Given the description of an element on the screen output the (x, y) to click on. 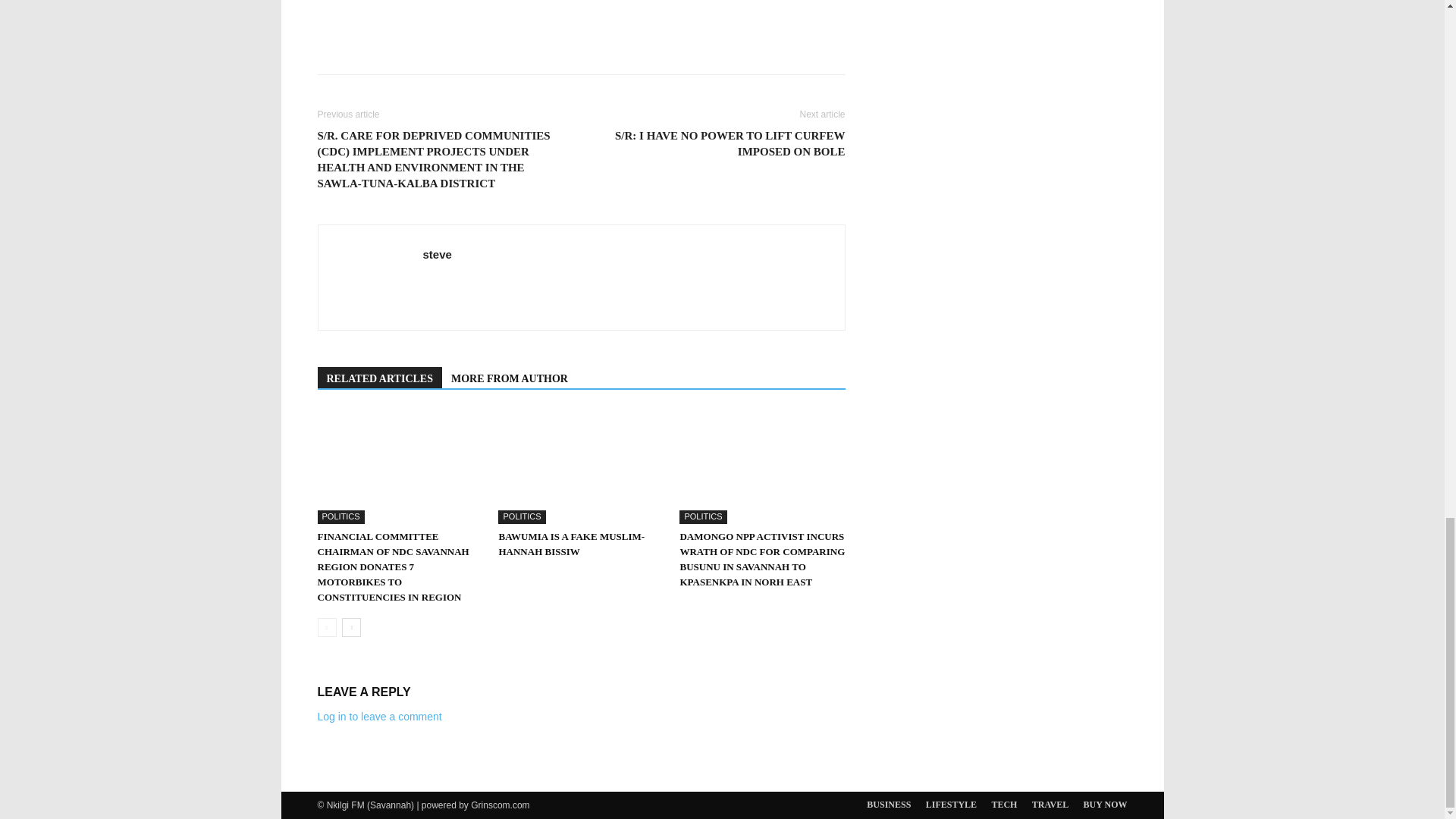
bottomFacebookLike (430, 9)
